Given the description of an element on the screen output the (x, y) to click on. 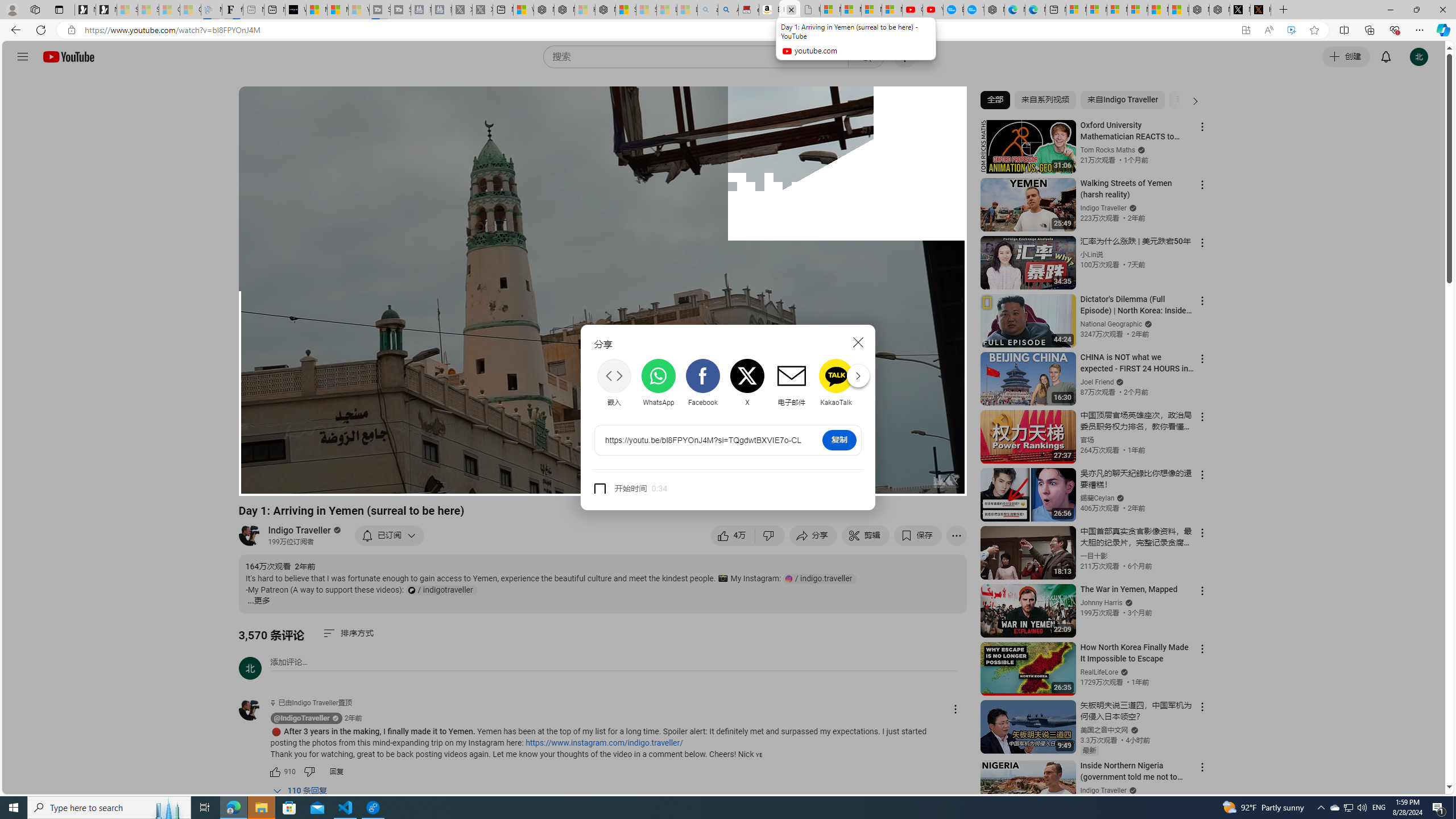
Microsoft account | Privacy (1137, 9)
